Given the description of an element on the screen output the (x, y) to click on. 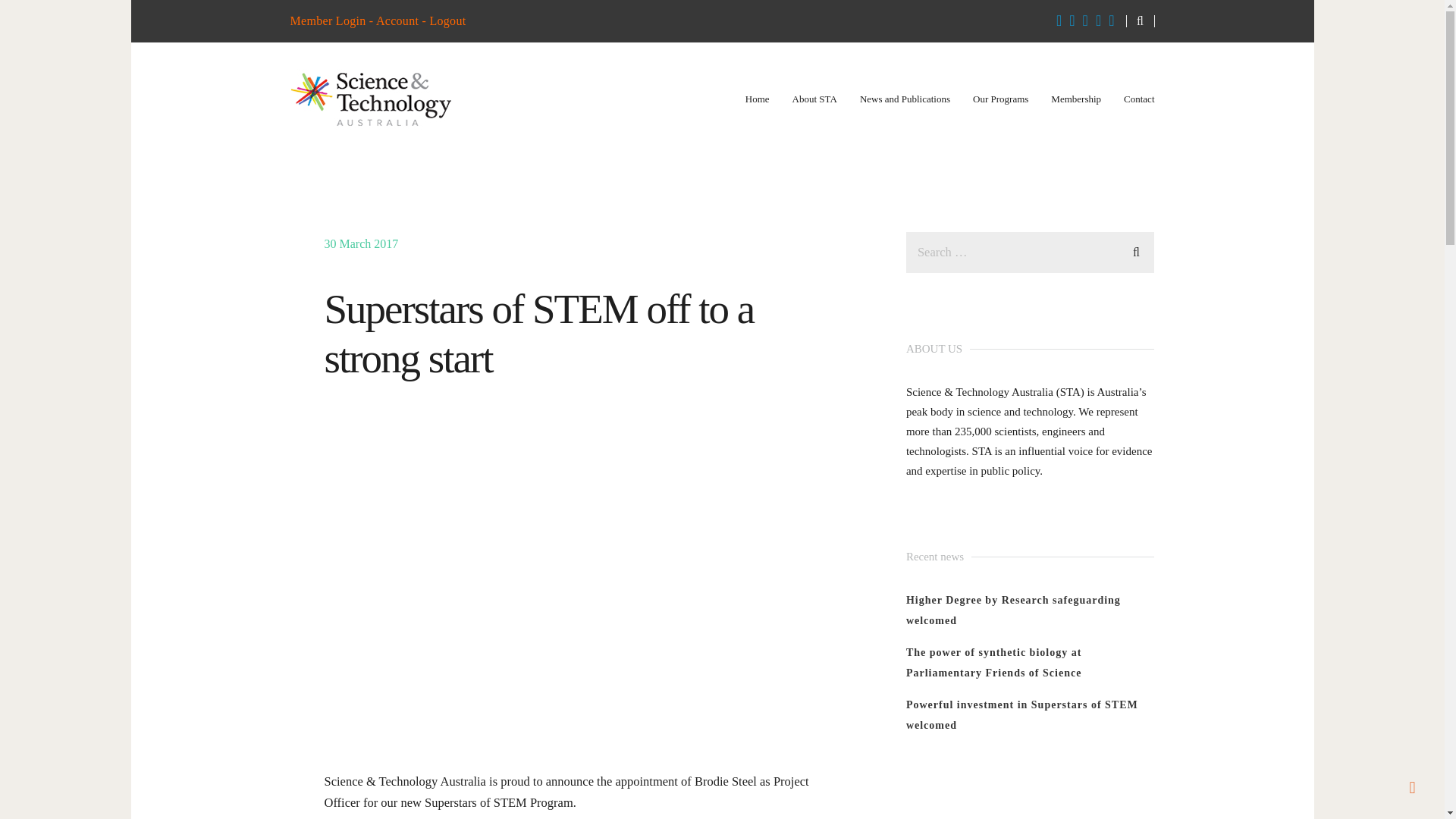
Contact (1139, 98)
Account (397, 20)
News and Publications (905, 98)
Search (1136, 250)
Member Login (327, 20)
About STA (814, 98)
Search (1136, 250)
Our Programs (999, 98)
Logout (447, 20)
Home (757, 98)
